Given the description of an element on the screen output the (x, y) to click on. 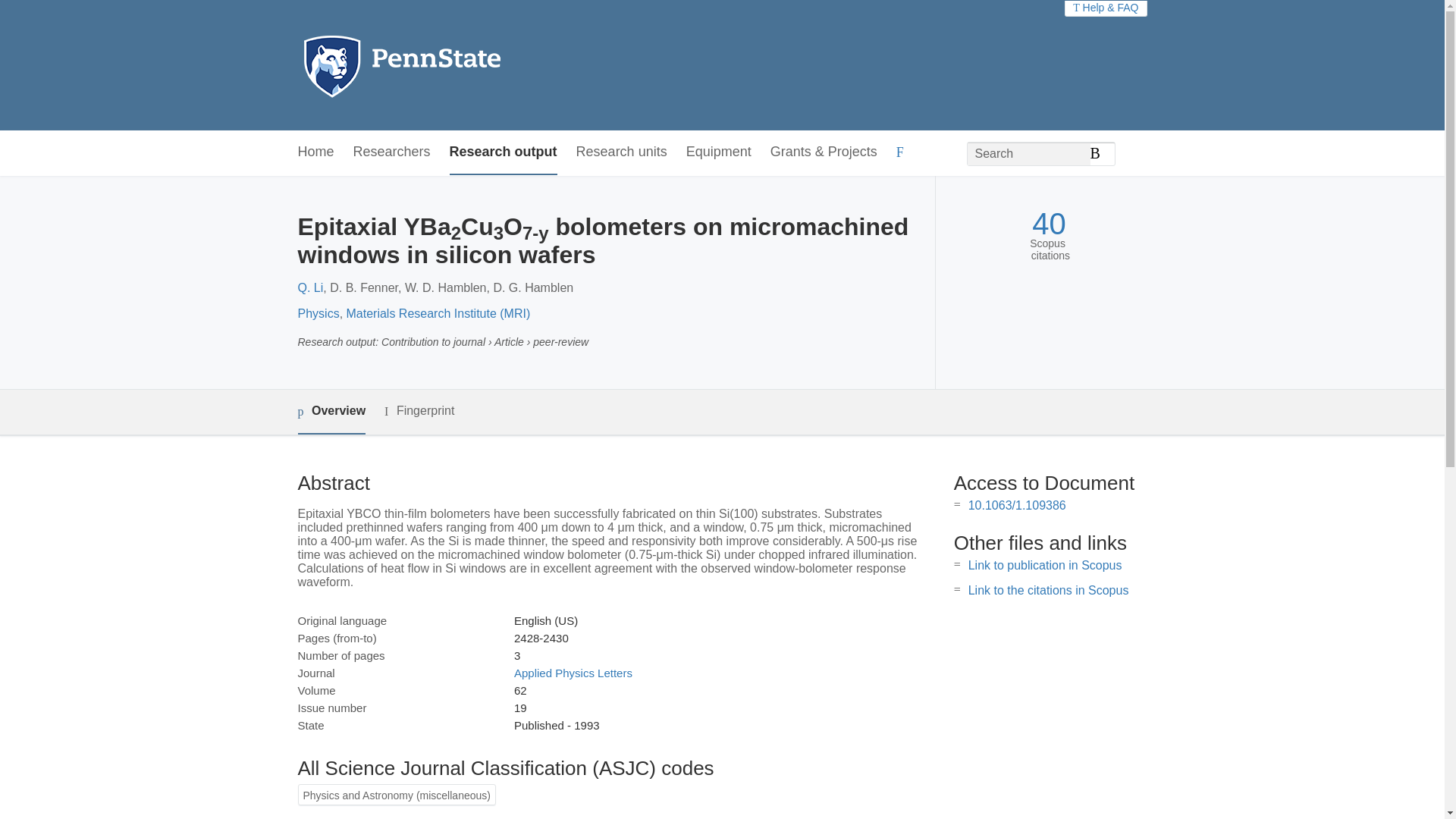
Researchers (391, 152)
Link to the citations in Scopus (1048, 590)
Applied Physics Letters (572, 672)
40 (1048, 223)
Q. Li (310, 287)
Equipment (718, 152)
Penn State Home (467, 65)
Research output (503, 152)
Physics (318, 313)
Overview (331, 411)
Research units (621, 152)
Link to publication in Scopus (1045, 564)
Fingerprint (419, 411)
